Given the description of an element on the screen output the (x, y) to click on. 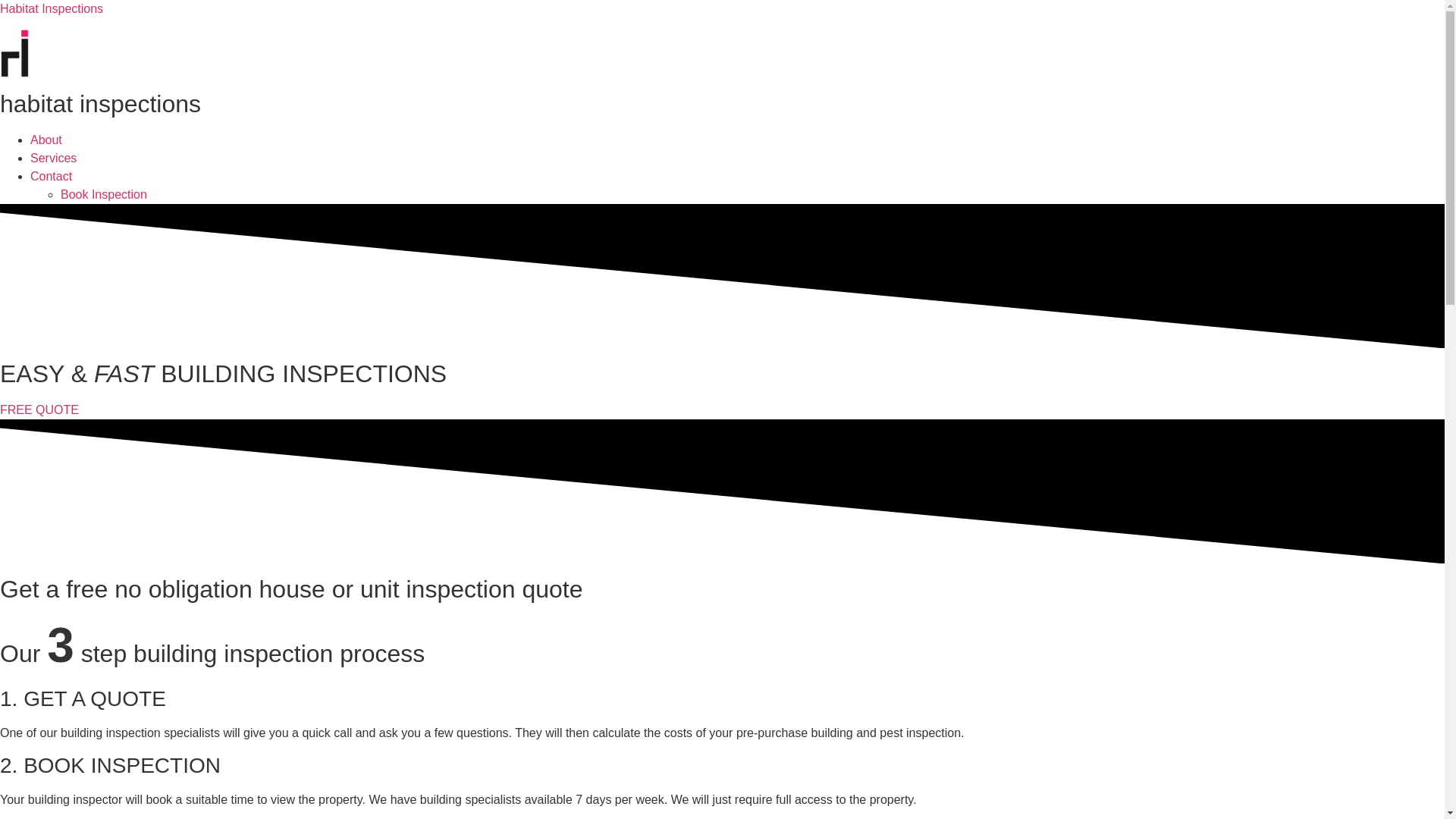
FREE QUOTE Element type: text (39, 409)
Contact Element type: text (51, 175)
About Element type: text (46, 139)
Book Inspection Element type: text (103, 194)
Services Element type: text (53, 157)
Habitat Inspections Element type: text (51, 8)
